Given the description of an element on the screen output the (x, y) to click on. 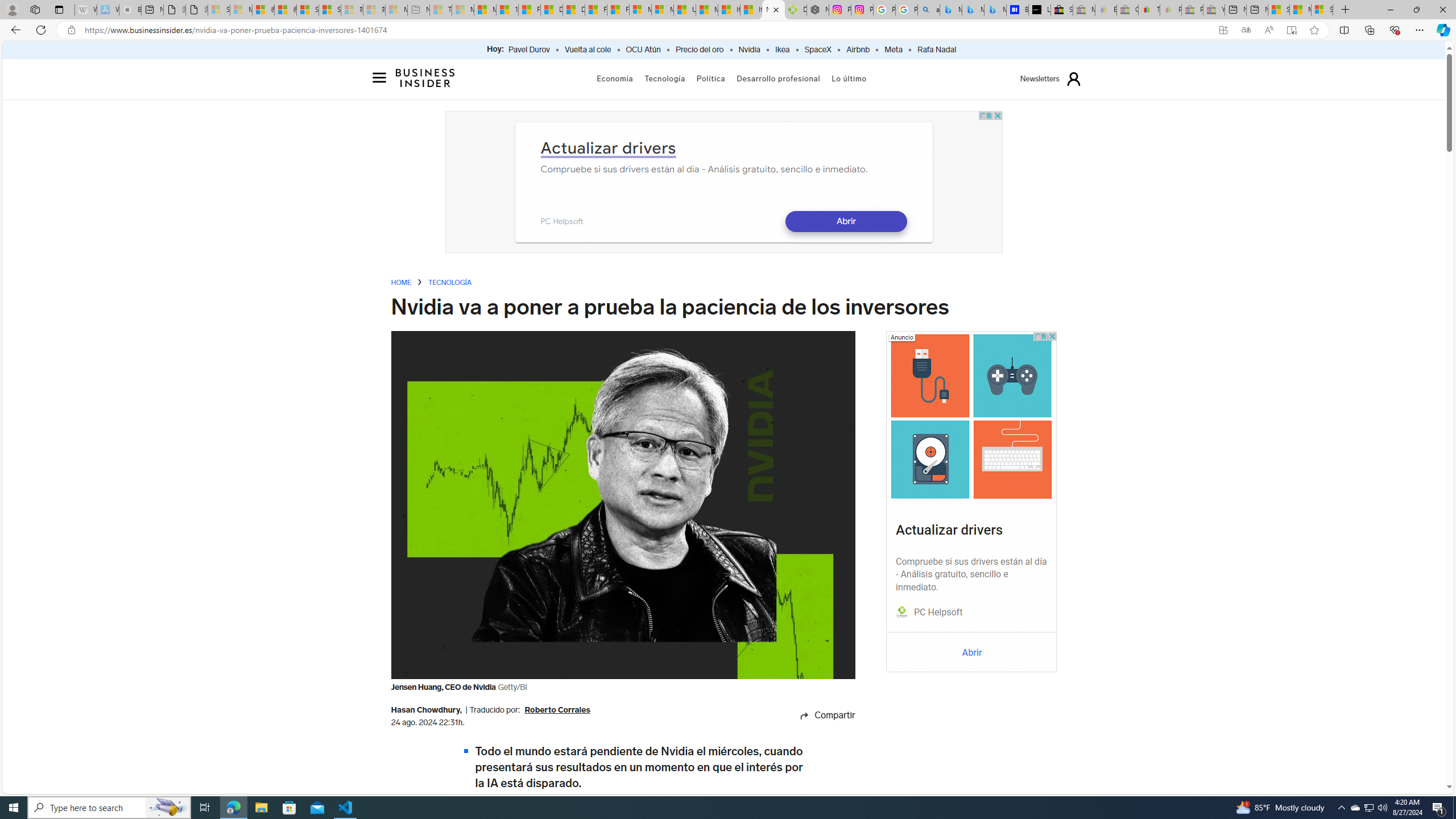
Marine life - MSN - Sleeping (462, 9)
Facebook (815, 733)
Ikea (782, 49)
Abrir (971, 652)
Actualizar drivers (949, 529)
HOME (401, 282)
